Given the description of an element on the screen output the (x, y) to click on. 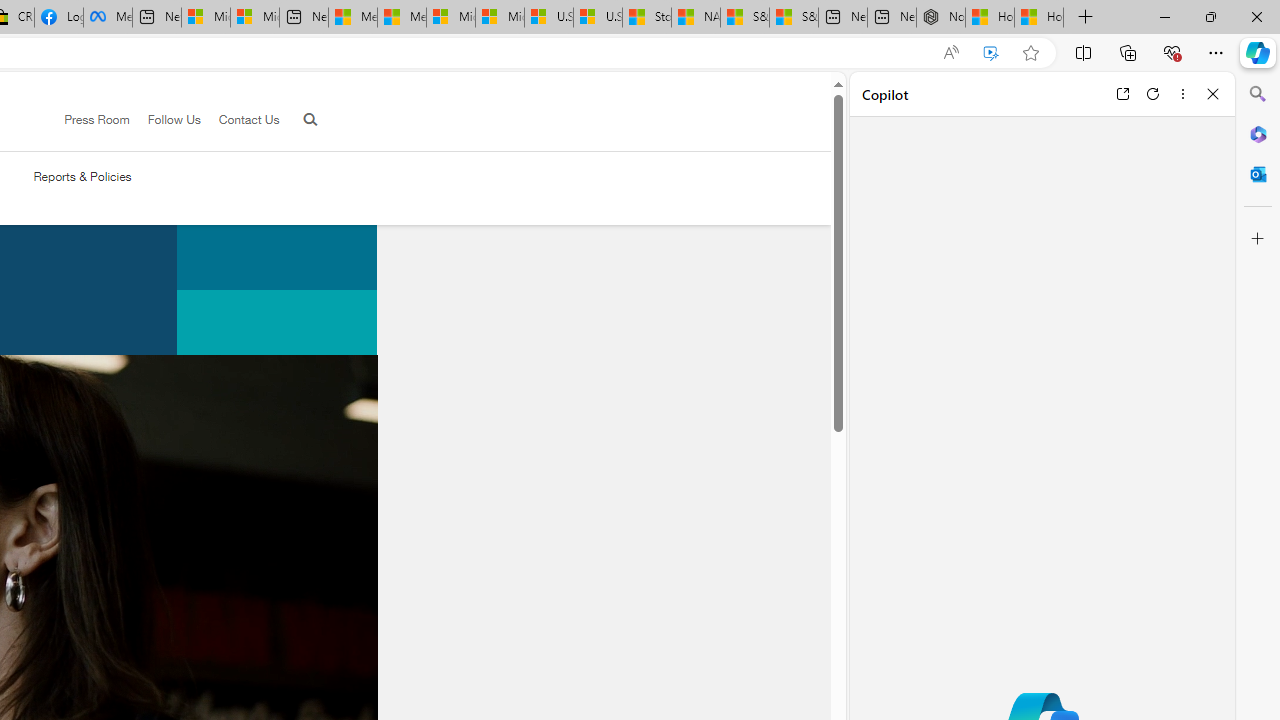
Reports & Policies (82, 176)
More options (1182, 93)
Open link in new tab (1122, 93)
Contact Us (248, 119)
Press Room (88, 120)
Microsoft account | Privacy (254, 17)
Log into Facebook (58, 17)
